Given the description of an element on the screen output the (x, y) to click on. 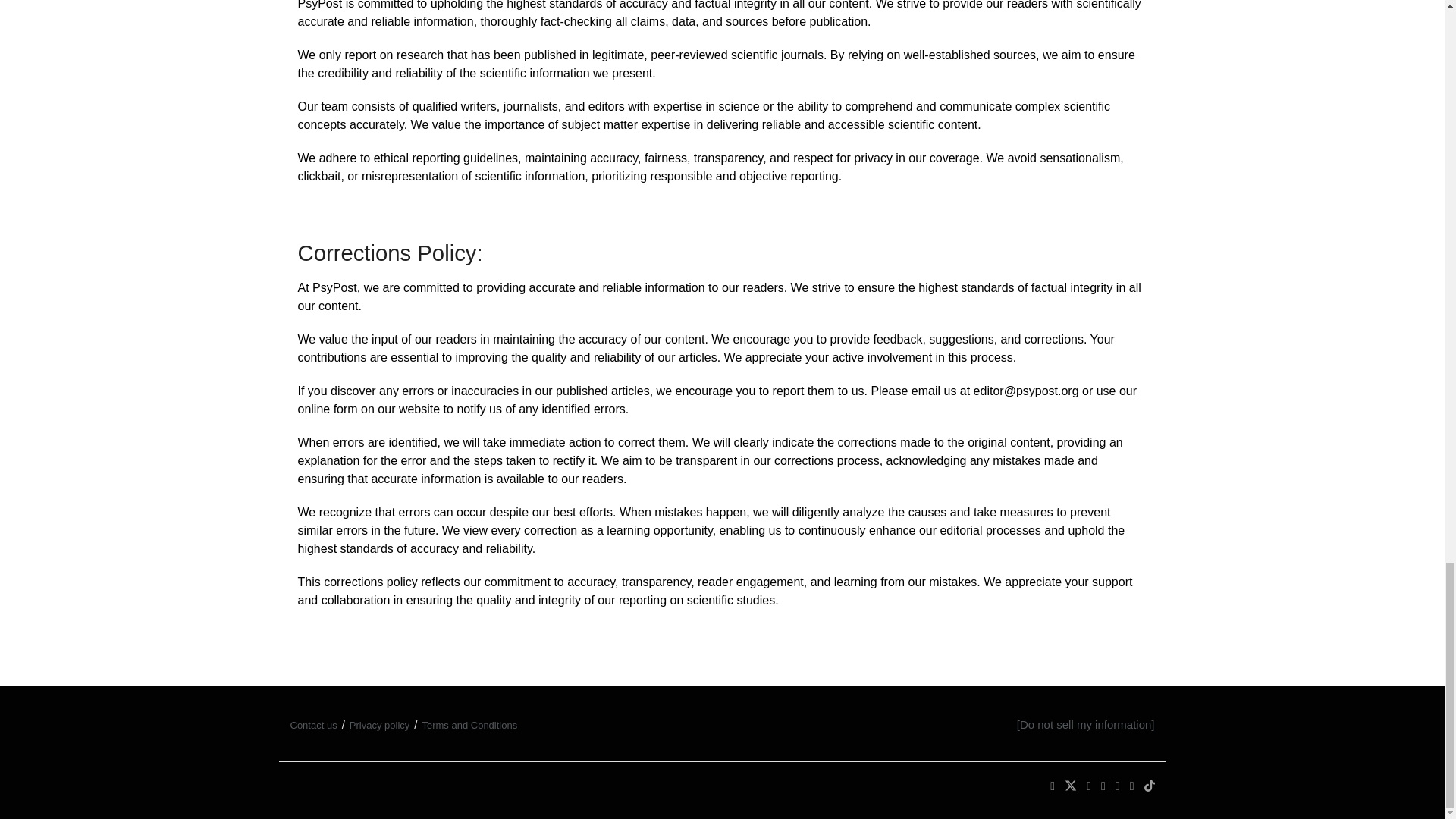
Contact us (312, 725)
Privacy policy (379, 725)
Terms and Conditions (469, 725)
